Given the description of an element on the screen output the (x, y) to click on. 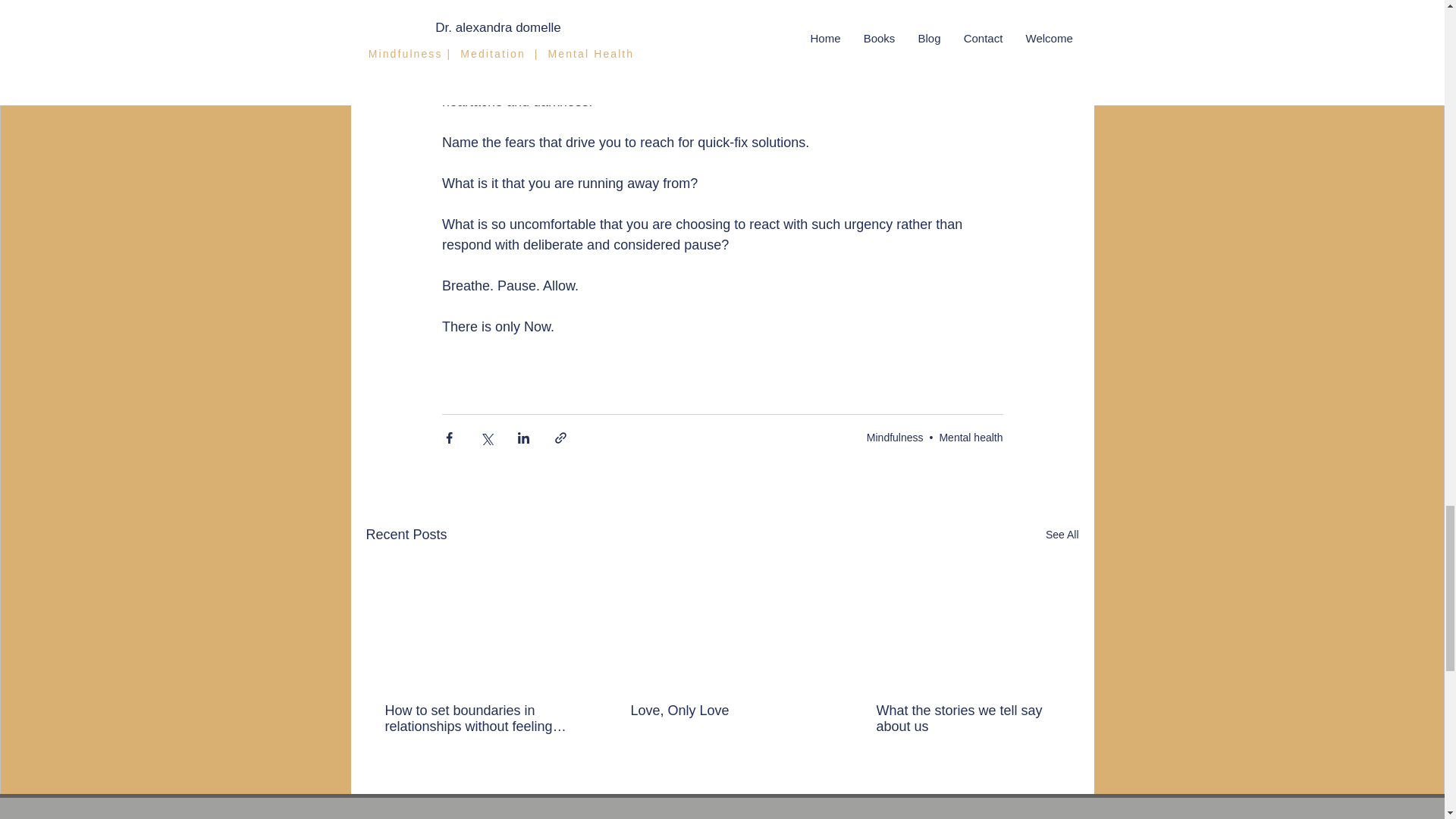
See All (1061, 535)
What the stories we tell say about us (967, 718)
Mindfulness (894, 436)
Mental health (971, 436)
Love, Only Love (721, 710)
